Given the description of an element on the screen output the (x, y) to click on. 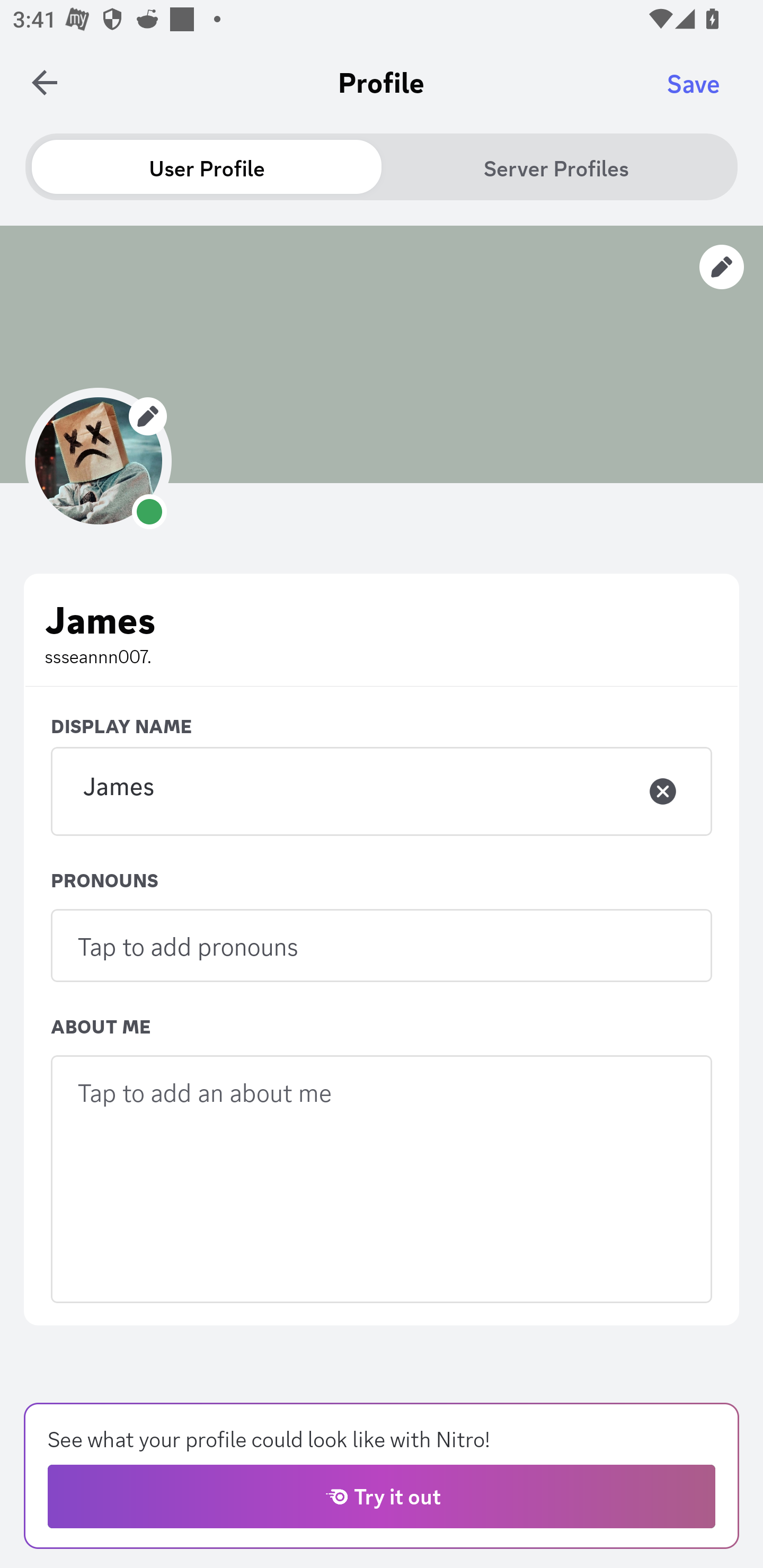
Navigate up (44, 82)
Save, back Save (693, 82)
User Profile (206, 166)
Server Profiles (555, 166)
Change Profile Banner (381, 353)
Change Avatar or Decoration (98, 459)
James,  ssseannn007. James ssseannn007. (381, 630)
James Clear (381, 790)
James (381, 791)
Clear (662, 791)
Edit Pronouns Tap to add pronouns (381, 945)
Edit About Me Tap to add an about me (381, 1178)
Try it out (381, 1496)
